Given the description of an element on the screen output the (x, y) to click on. 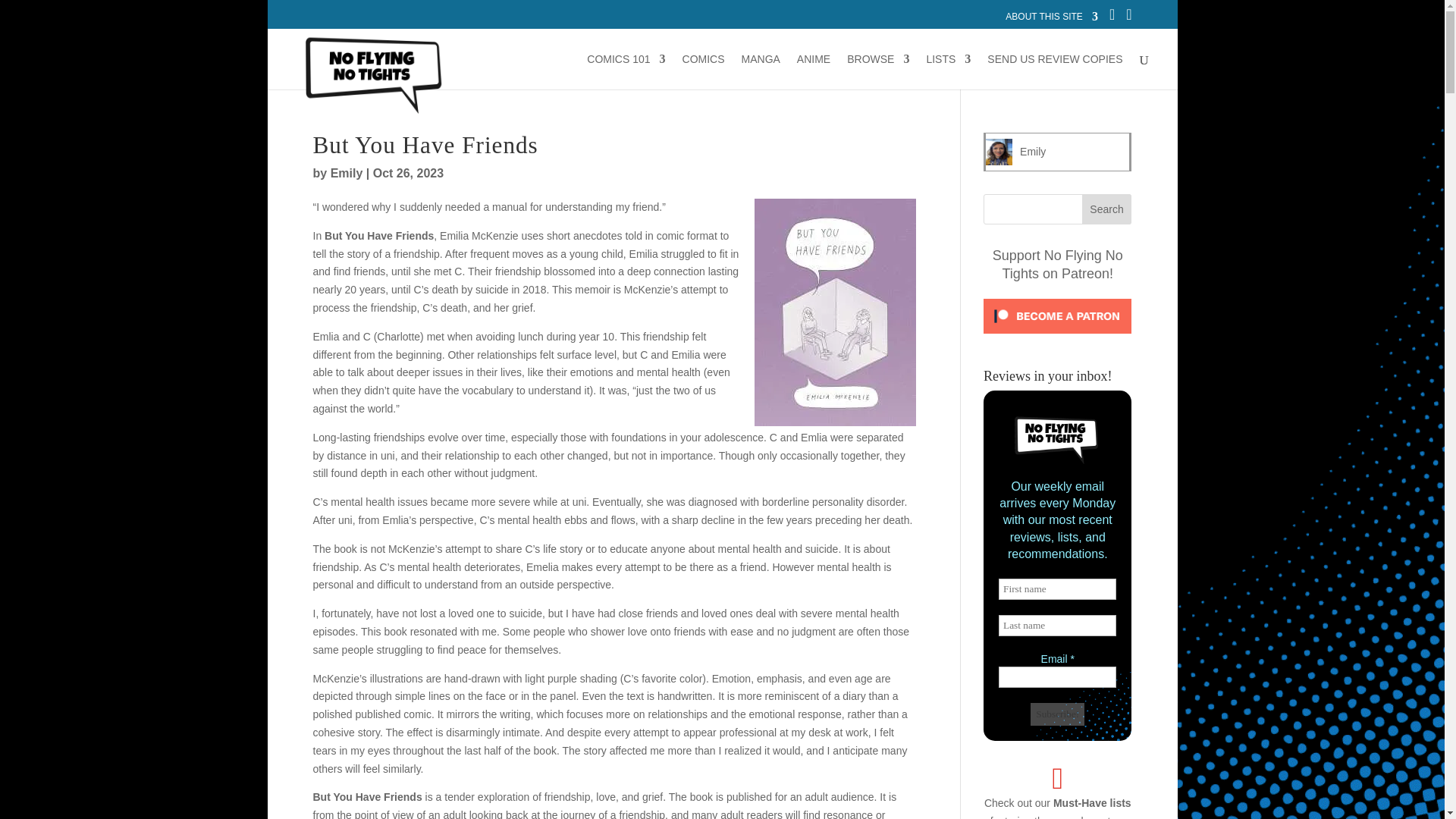
Last name (1057, 625)
First name (1057, 588)
COMICS 101 (625, 71)
ANIME (812, 71)
LISTS (948, 71)
SEND US REVIEW COPIES (1054, 71)
Subscribe! (1057, 713)
Emily (1032, 151)
ABOUT THIS SITE (1051, 19)
Posts by Emily (346, 173)
COMICS (703, 71)
Email (1057, 676)
BROWSE (877, 71)
Search (1106, 209)
MANGA (760, 71)
